Given the description of an element on the screen output the (x, y) to click on. 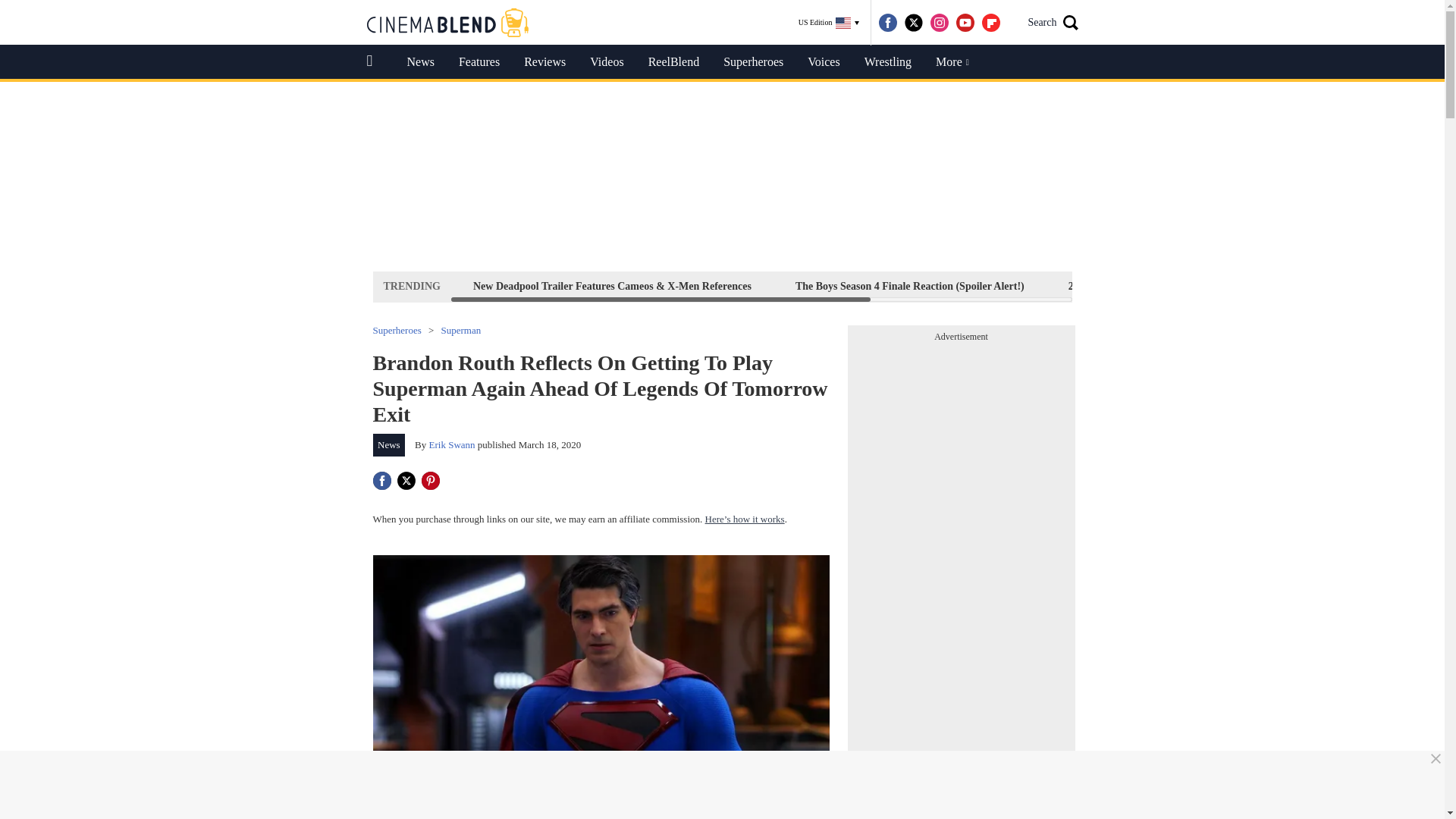
ReelBlend (673, 61)
Reviews (545, 61)
Wrestling (887, 61)
Videos (606, 61)
Superman (461, 329)
News (419, 61)
Superheroes (397, 329)
Superheroes (752, 61)
US Edition (828, 22)
Features (479, 61)
2024 Upcoming Movies (1120, 286)
Voices (822, 61)
